Given the description of an element on the screen output the (x, y) to click on. 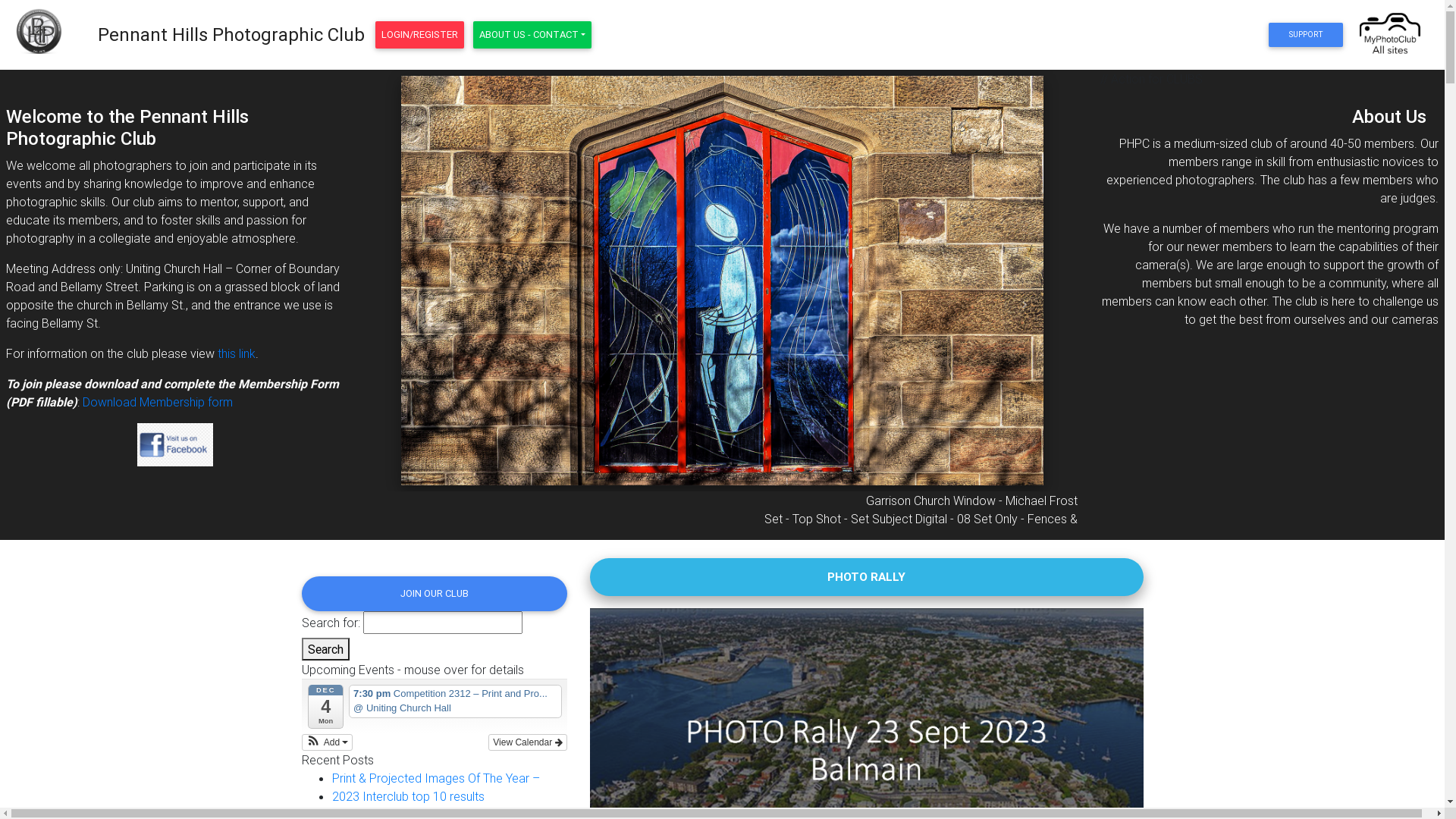
Previous Element type: text (420, 304)
Search Element type: text (325, 648)
Pennant Hills Photographic Club Element type: text (230, 35)
Next Element type: text (1024, 304)
JOIN OUR CLUB Element type: text (434, 593)
View Calendar Element type: text (527, 742)
Download Membership form Element type: text (157, 401)
DEC
4
Mon Element type: text (325, 706)
this link Element type: text (236, 352)
SUPPORT Element type: text (1305, 34)
ABOUT US - CONTACT Element type: text (532, 34)
LOGIN/REGISTER Element type: text (419, 34)
PHOTO RALLY Element type: text (866, 575)
2023 Interclub top 10 results Element type: text (408, 795)
